Given the description of an element on the screen output the (x, y) to click on. 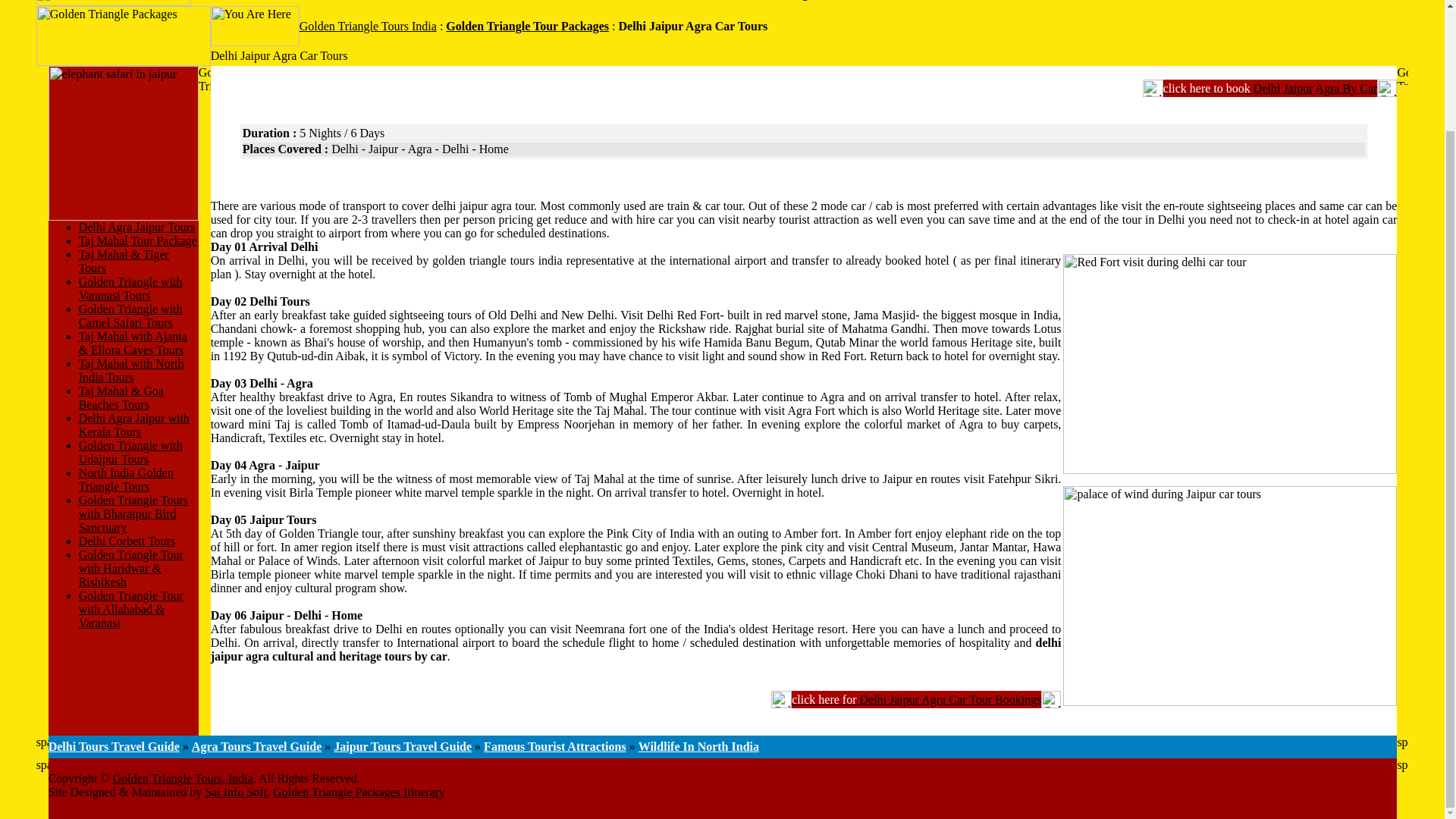
Delhi Corbett Tours (126, 540)
Golden Triangle Tours India (367, 25)
Sai Info Soft (235, 791)
Famous Tourist Attractions (554, 746)
Taj Mahal Tour Package (137, 240)
Golden Triangle Tours with Bharatpur Bird Sanctuary (132, 513)
Golden Triangle Tours, India (183, 778)
click here for Delhi Jaipur Agra Car Tour Bookings (916, 698)
Golden Triangle Packages Itinerary (359, 791)
Delhi Agra Jaipur with Kerala Tours (133, 424)
